Given the description of an element on the screen output the (x, y) to click on. 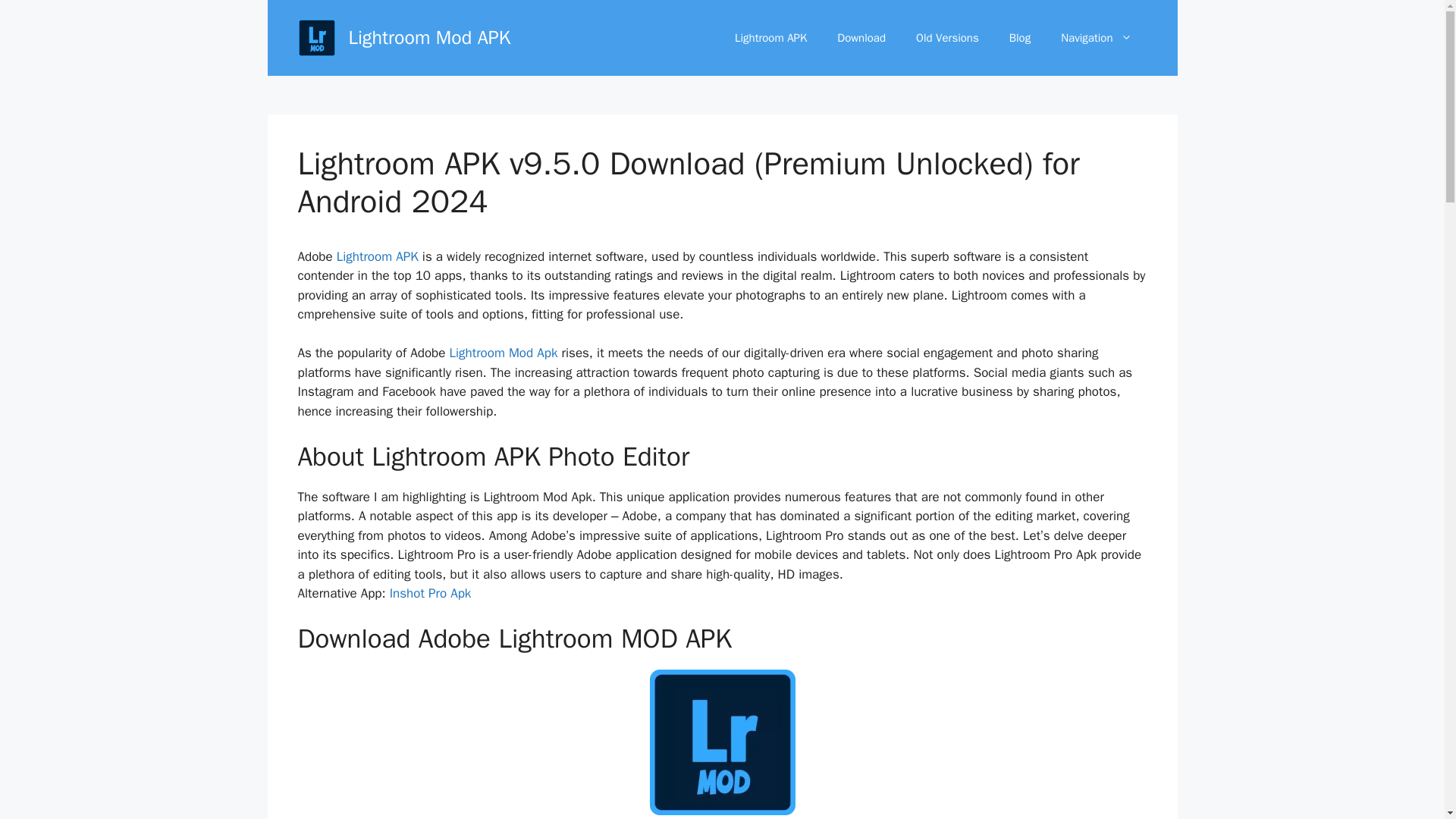
Inshot Pro Apk (430, 593)
Lightroom Mod Apk (502, 352)
Download (861, 37)
Old Versions (947, 37)
Lightroom Mod APK (430, 37)
Blog (1019, 37)
Lightroom APK (770, 37)
Lightroom APK (377, 256)
Navigation (1096, 37)
